Given the description of an element on the screen output the (x, y) to click on. 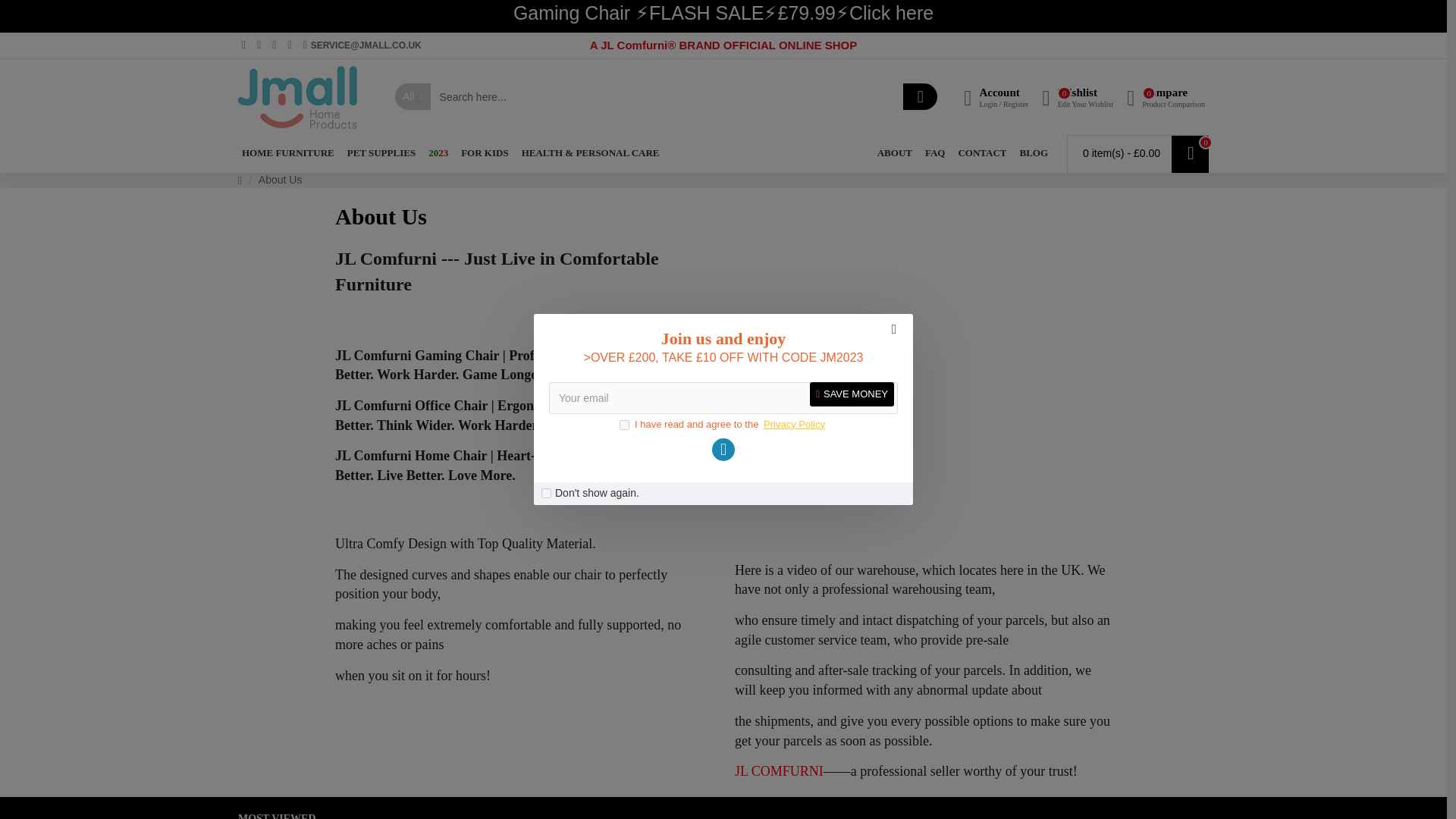
HOME FURNITURE (287, 153)
SAVE MONEY (851, 394)
on (1165, 96)
1 (546, 492)
Click here (624, 424)
Privacy Policy (890, 13)
JMALL (1077, 96)
